Given the description of an element on the screen output the (x, y) to click on. 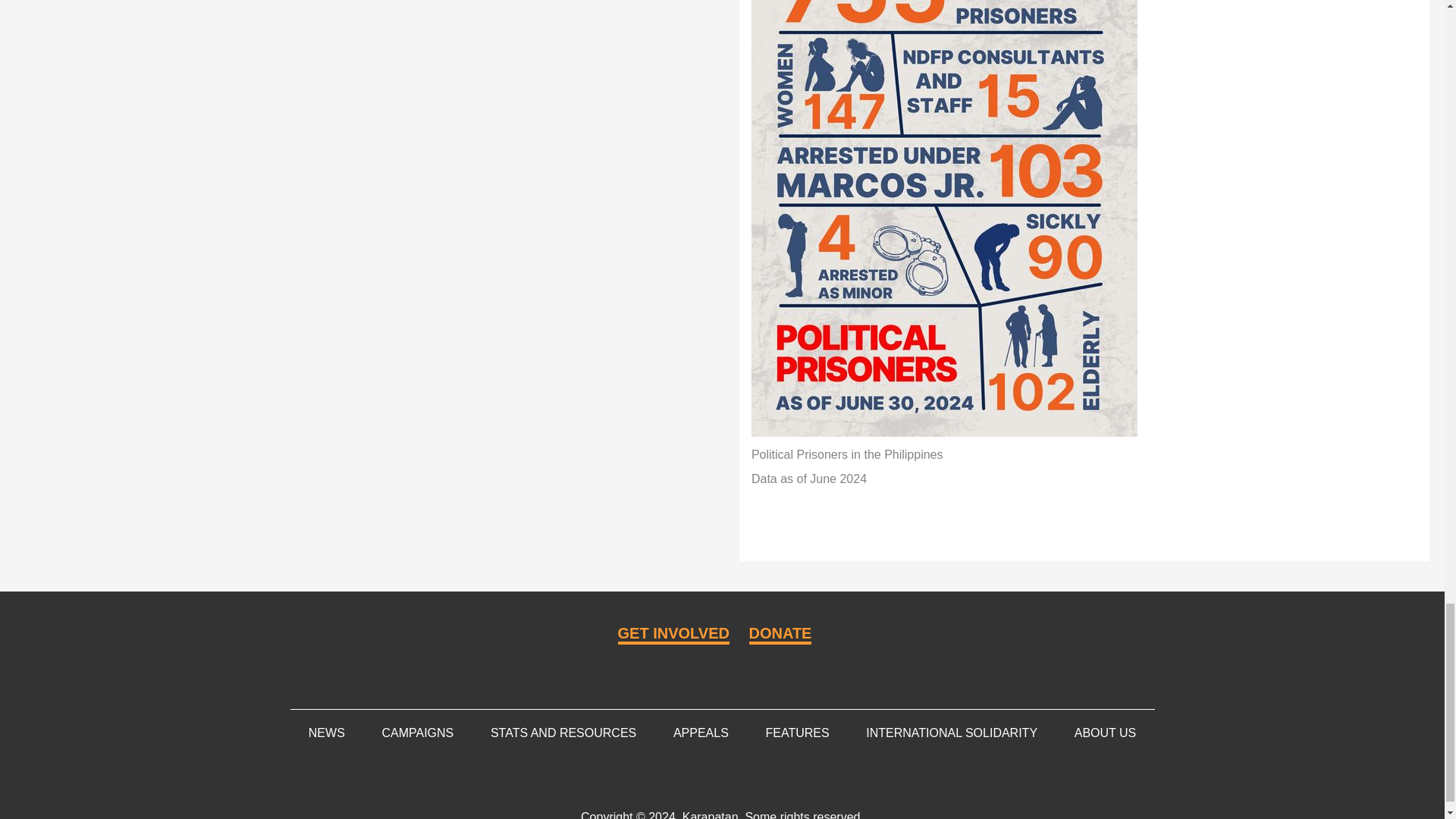
APPEALS (701, 733)
INTERNATIONAL SOLIDARITY (951, 733)
FEATURES (796, 733)
STATS AND RESOURCES (563, 733)
ABOUT US (1104, 733)
GET INVOLVED (673, 634)
DONATE (780, 634)
CAMPAIGNS (416, 733)
NEWS (325, 733)
